Given the description of an element on the screen output the (x, y) to click on. 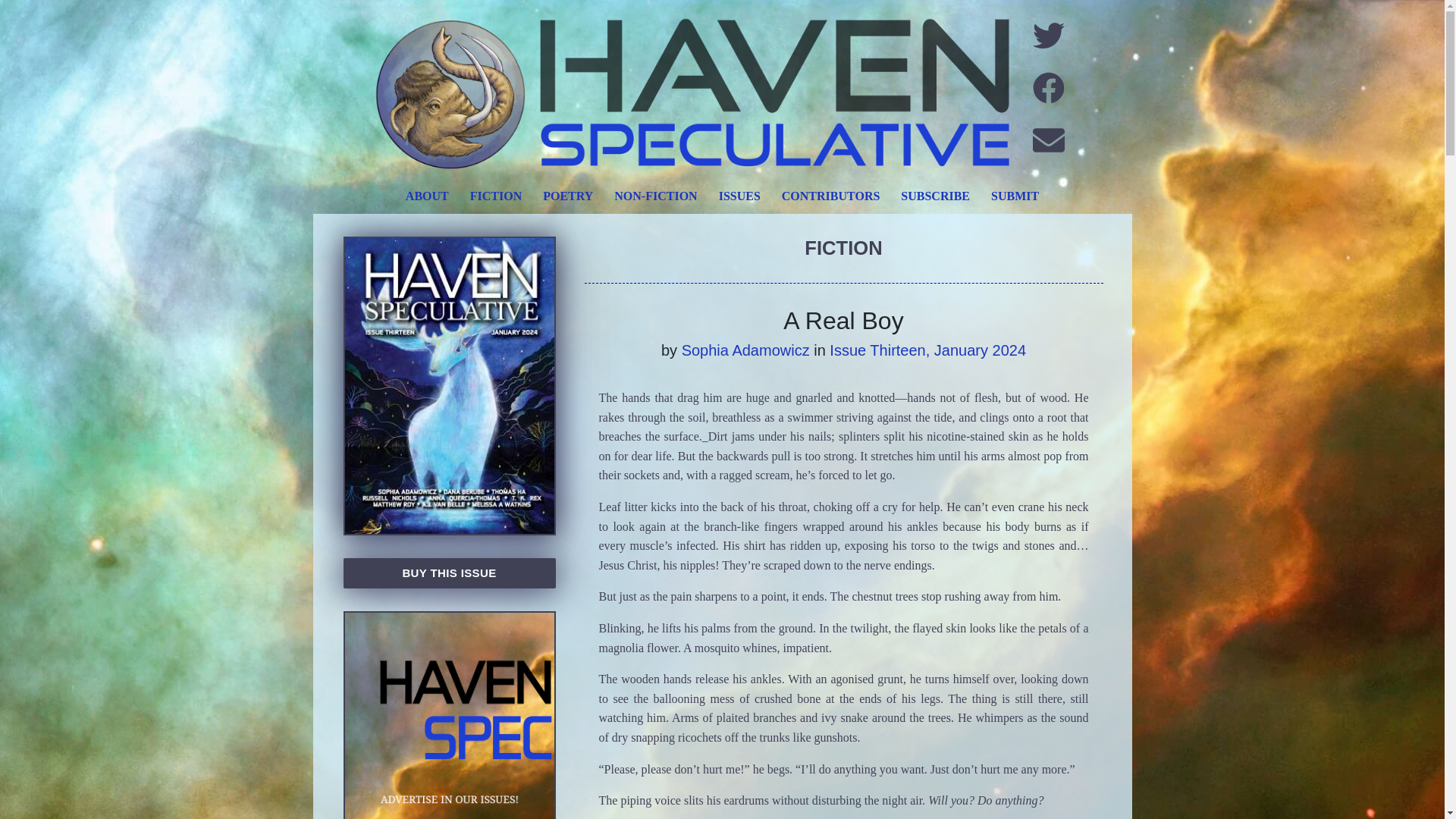
Issue Thirteen, January 2024 (927, 350)
CONTRIBUTORS (831, 196)
ISSUES (739, 196)
SUBMIT (1014, 196)
NON-FICTION (655, 196)
POETRY (568, 196)
FICTION (496, 196)
ABOUT (427, 196)
BUY THIS ISSUE (448, 572)
SUBSCRIBE (934, 196)
